Given the description of an element on the screen output the (x, y) to click on. 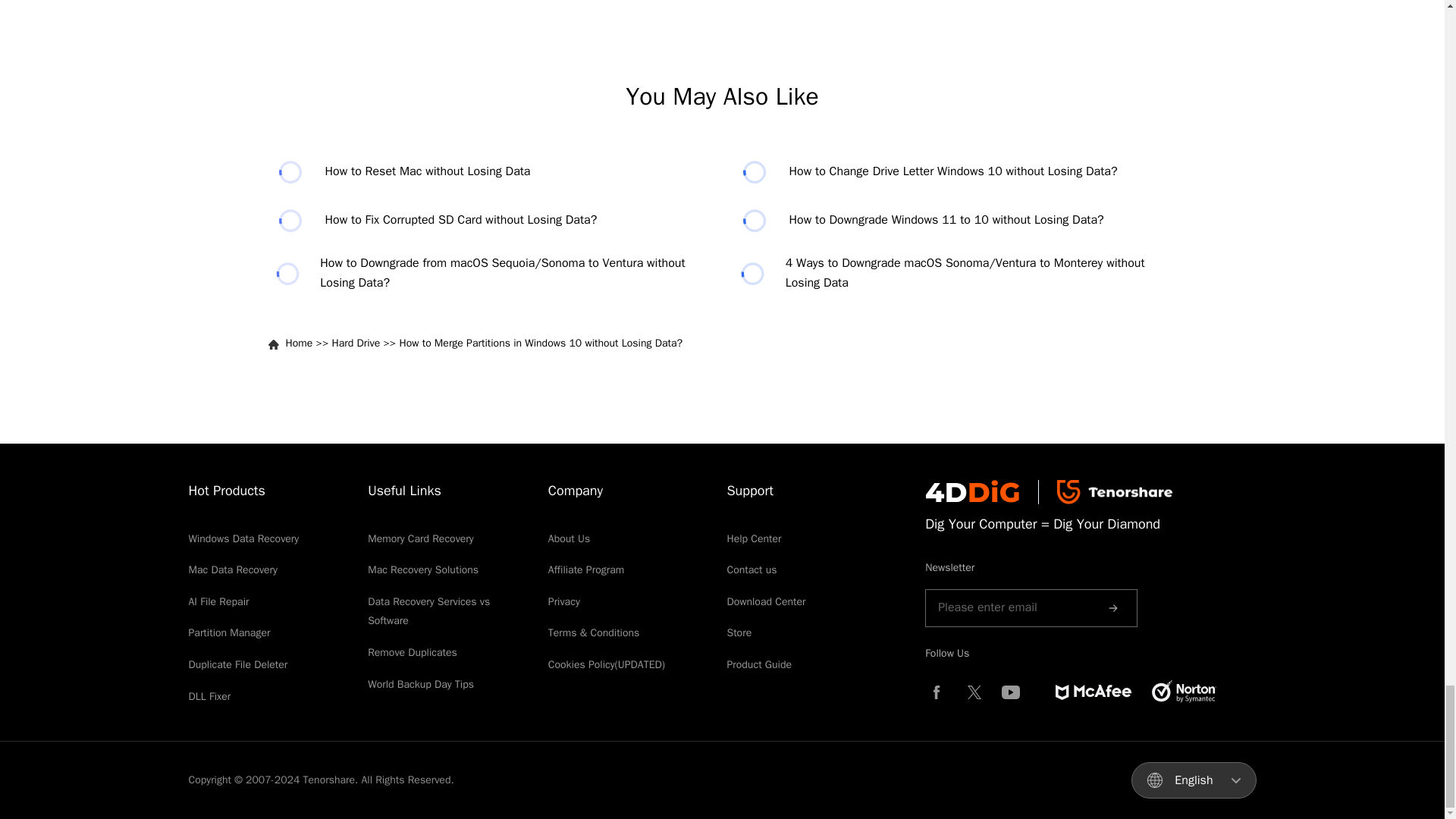
memory card recovery (421, 538)
4DDiG Partition Manager (228, 632)
Windows Data Recovery (242, 538)
How to Change Drive Letter Windows 10 without Losing Data? (953, 172)
Mac Data Recovery (231, 569)
Duplicate File Deleter (236, 664)
How to Fix Corrupted SD Card without Losing Data? (489, 220)
remove duplicate (412, 652)
DLL Fixer (208, 696)
How to Reset Mac without Losing Data (489, 172)
AI File Repair (217, 601)
Mac Recovery Solutions (423, 569)
How to Downgrade Windows 11 to 10 without Losing Data? (953, 220)
